Given the description of an element on the screen output the (x, y) to click on. 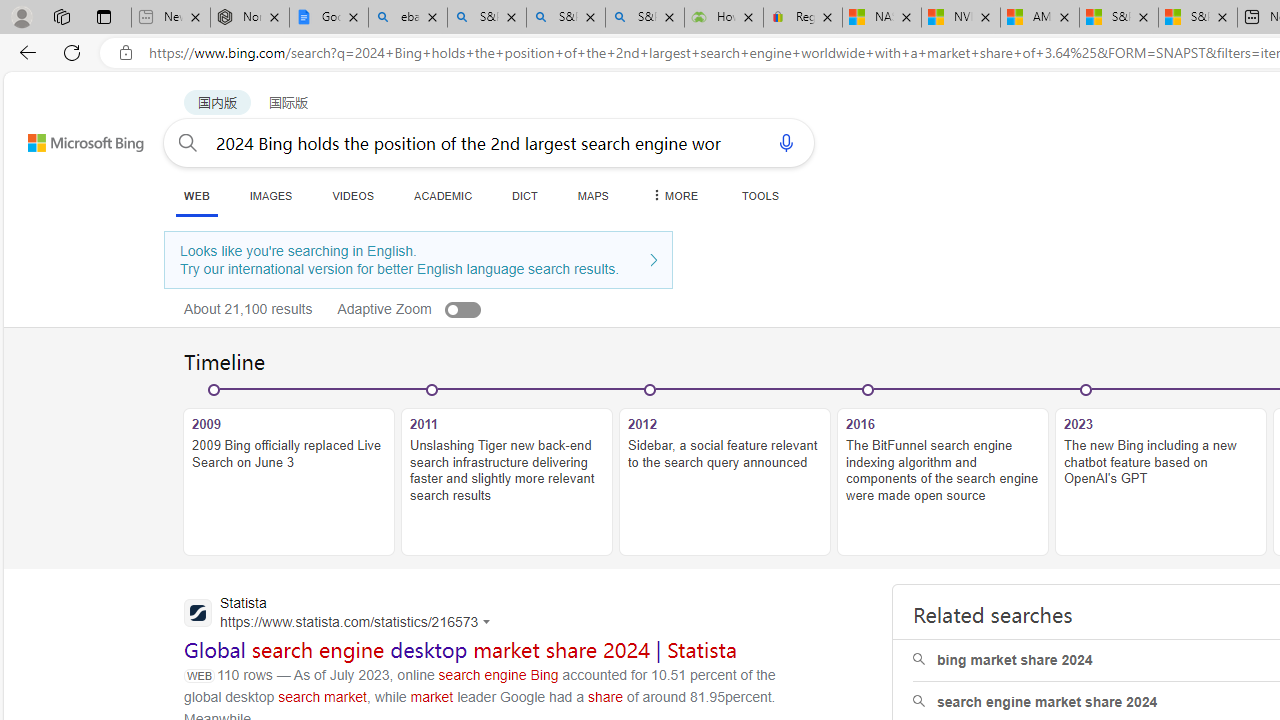
TOOLS (760, 195)
WEB (196, 196)
IMAGES (270, 195)
Google Docs: Online Document Editor | Google Workspace (329, 17)
S&P 500, Nasdaq end lower, weighed by Nvidia dip | Watch (1197, 17)
Skip to content (63, 133)
